Given the description of an element on the screen output the (x, y) to click on. 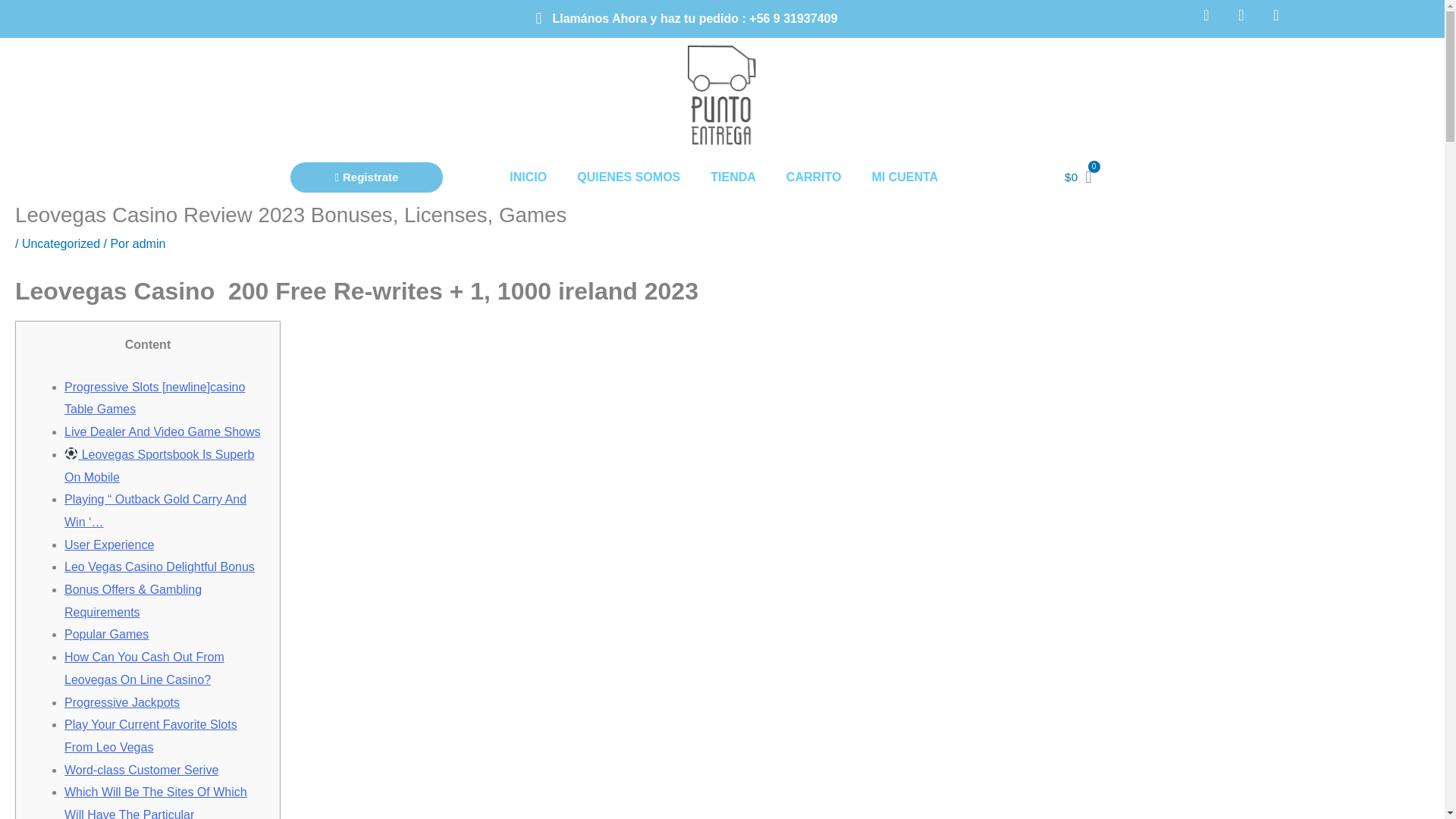
Word-class Customer Serive (141, 769)
Live Dealer And Video Game Shows (162, 431)
Play Your Current Favorite Slots From Leo Vegas (150, 735)
admin (148, 243)
CARRITO (814, 205)
MI CUENTA (904, 203)
User Experience (109, 544)
TIENDA (733, 206)
Leo Vegas Casino Delightful Bonus (159, 566)
INICIO (528, 208)
QUIENES SOMOS (628, 208)
Progressive Jackpots (121, 702)
Ver todas las entradas de admin (148, 243)
Uncategorized (60, 243)
Leovegas Sportsbook Is Superb On Mobile (158, 465)
